Given the description of an element on the screen output the (x, y) to click on. 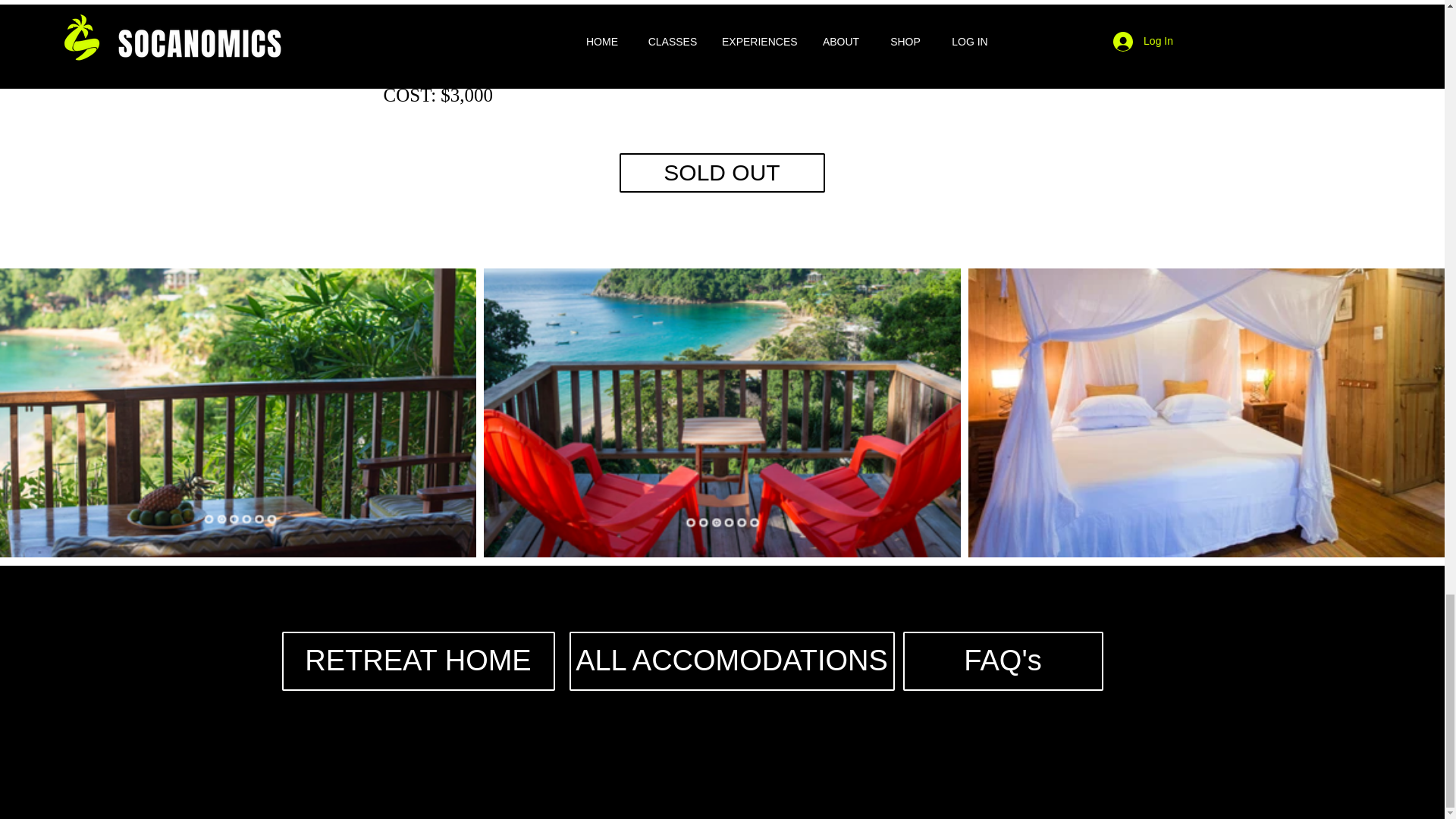
ALL ACCOMODATIONS (731, 661)
FAQ's (1002, 661)
RETREAT HOME (418, 661)
